Given the description of an element on the screen output the (x, y) to click on. 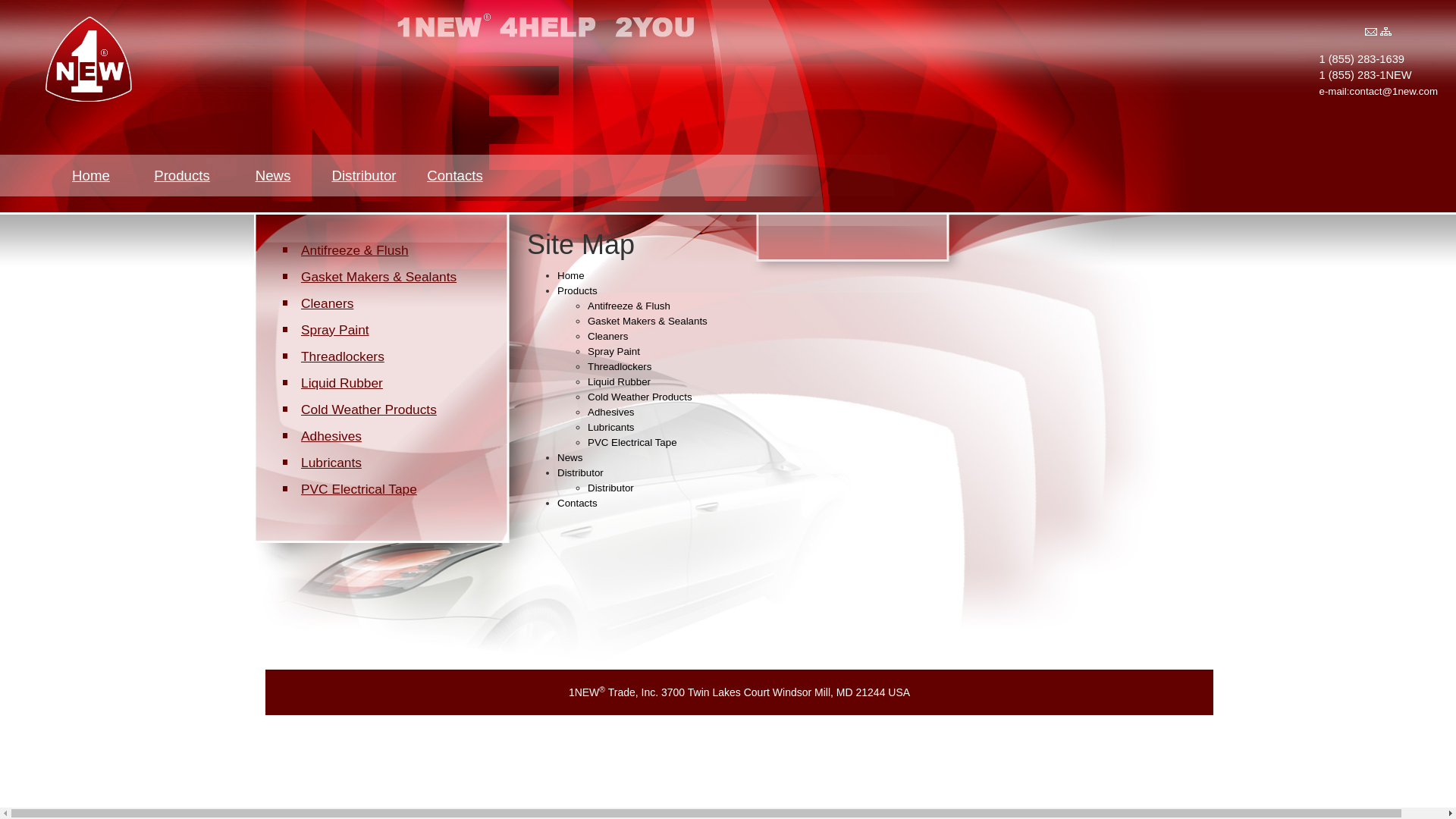
Liquid Rubber Element type: text (618, 381)
Lubricants Element type: text (610, 427)
Adhesives Element type: text (610, 411)
Home Element type: text (570, 275)
Spray Paint Element type: text (332, 329)
Contacts Element type: text (454, 175)
Threadlockers Element type: text (619, 366)
Distributor Element type: text (363, 175)
PVC Electrical Tape Element type: text (632, 442)
Threadlockers Element type: text (339, 356)
Gasket Makers & Sealants Element type: text (647, 320)
Distributor Element type: text (580, 472)
Cleaners Element type: text (324, 302)
Antifreeze & Flush Element type: text (628, 305)
Adhesives Element type: text (328, 435)
Lubricants Element type: text (328, 462)
PVC Electrical Tape Element type: text (356, 488)
Distributor Element type: text (610, 487)
Cleaners Element type: text (607, 336)
Products Element type: text (181, 175)
News Element type: text (273, 175)
Spray Paint Element type: text (613, 351)
e-mail:contact@1new.com Element type: text (1377, 91)
Cold Weather Products Element type: text (365, 409)
Products Element type: text (577, 290)
News Element type: text (569, 457)
Home Element type: text (90, 175)
Cold Weather Products Element type: text (639, 396)
Antifreeze & Flush Element type: text (351, 249)
Contacts Element type: text (577, 502)
Liquid Rubber Element type: text (338, 382)
Gasket Makers & Sealants Element type: text (375, 276)
